Given the description of an element on the screen output the (x, y) to click on. 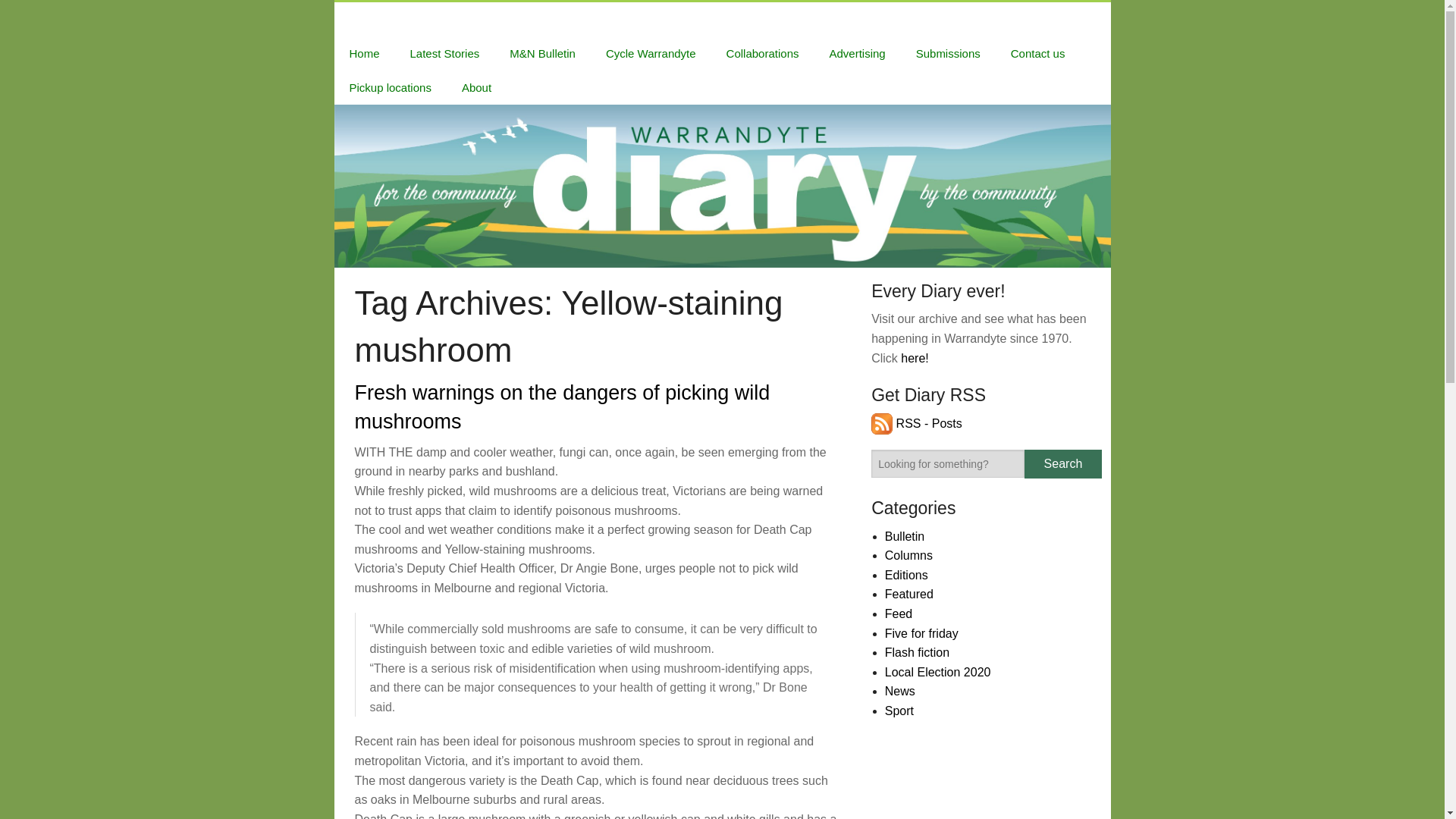
Home (364, 53)
Submissions (947, 53)
Editions (906, 574)
Five for friday (921, 633)
About (475, 87)
Sport (899, 710)
Search (1062, 463)
Collaborations (762, 53)
Search (1062, 463)
Contact us (1037, 53)
Bulletin (904, 535)
Featured (909, 594)
Feed (898, 613)
Fresh warnings on the dangers of picking wild mushrooms (562, 407)
Columns (909, 554)
